Given the description of an element on the screen output the (x, y) to click on. 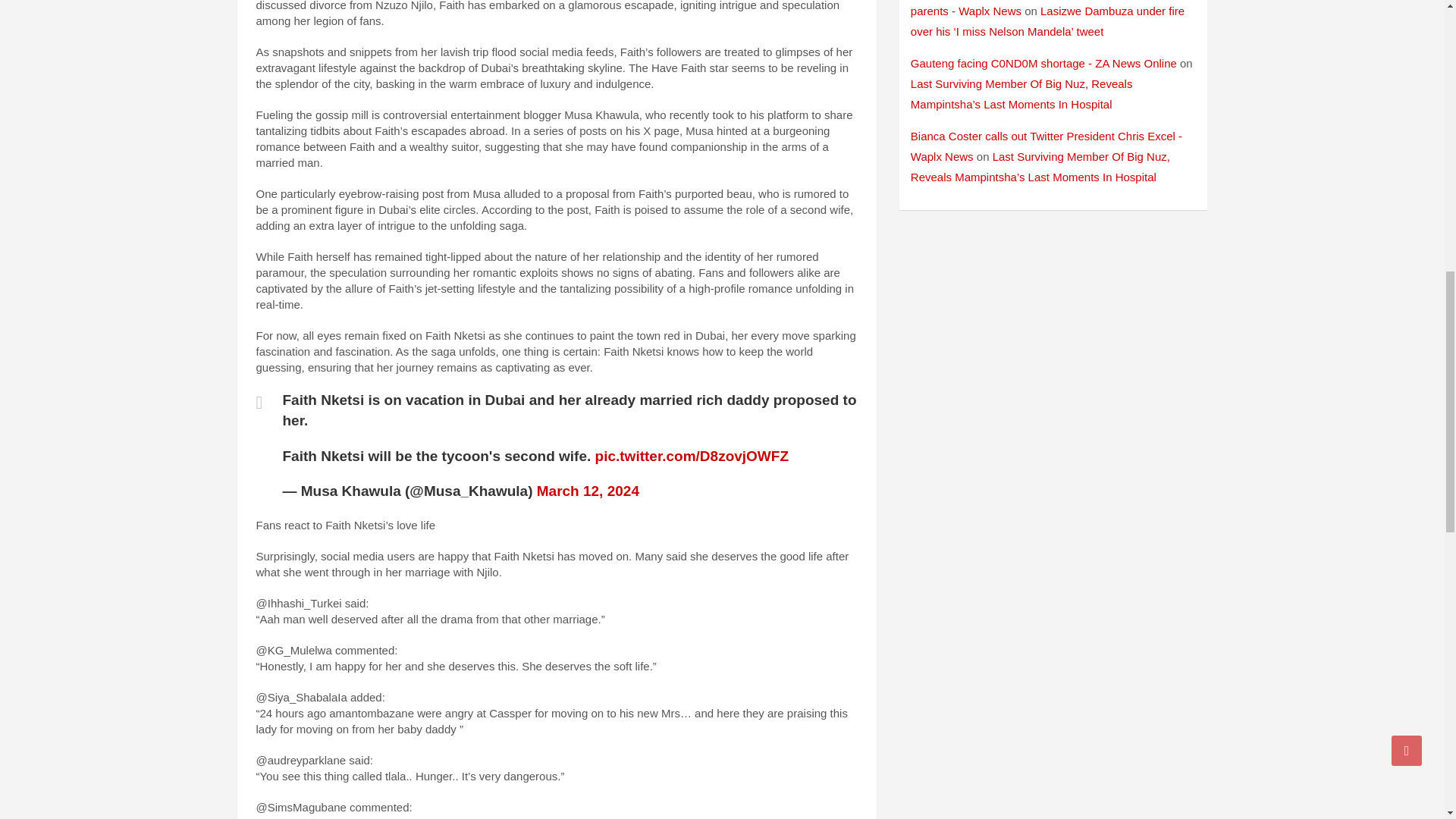
March 12, 2024 (588, 490)
